Given the description of an element on the screen output the (x, y) to click on. 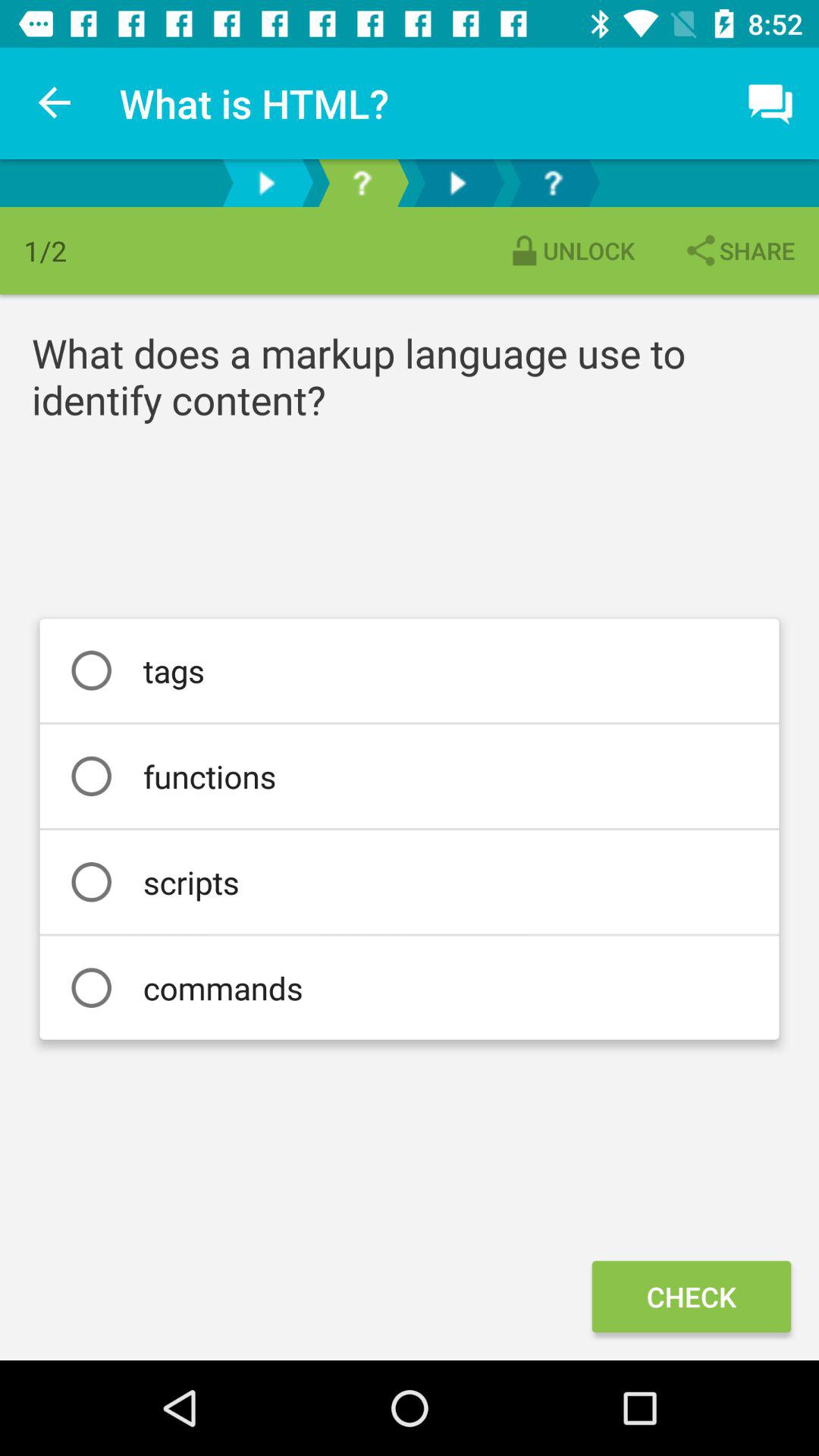
get help (552, 183)
